Given the description of an element on the screen output the (x, y) to click on. 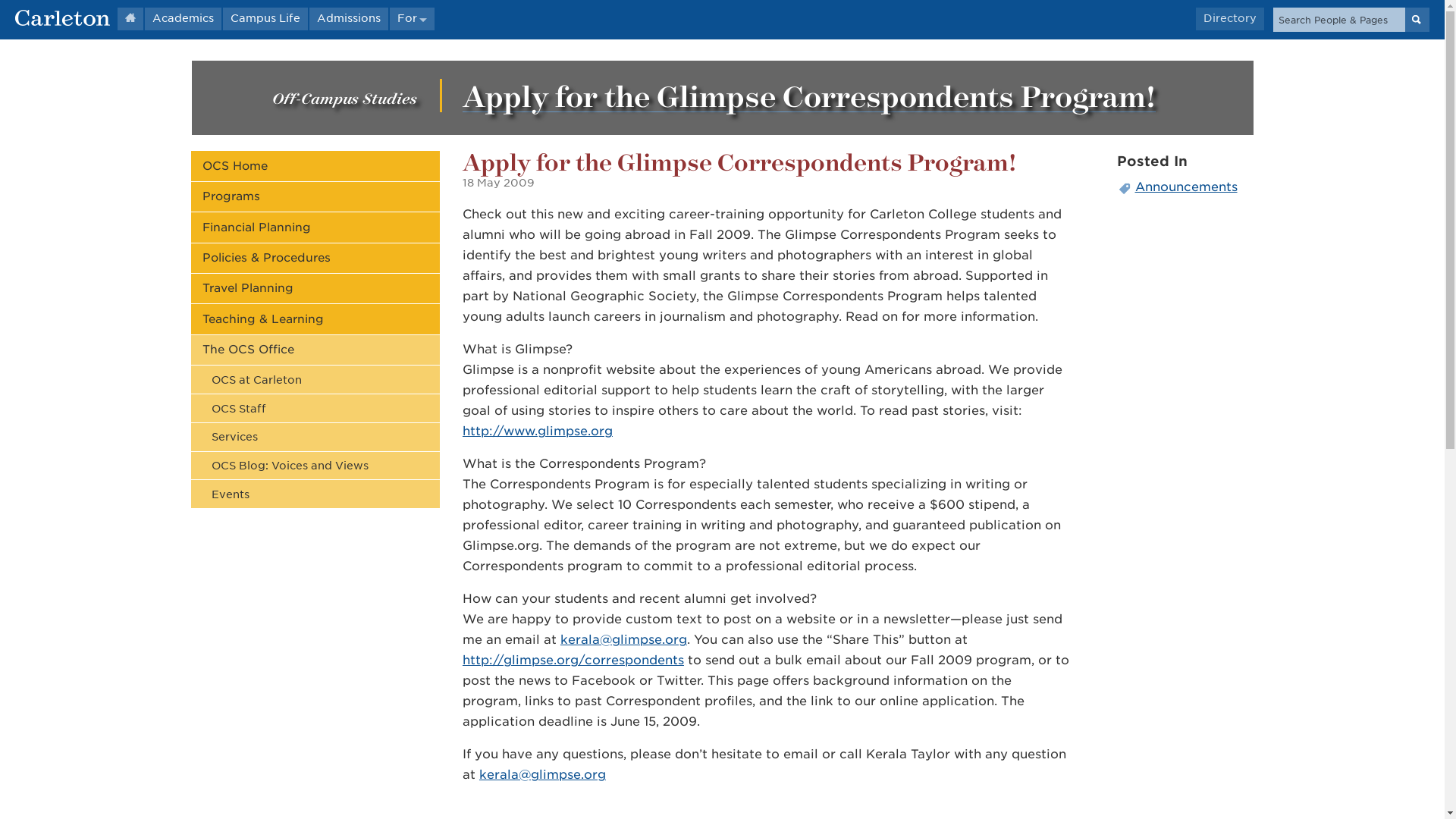
Directory (1229, 18)
Announcements (1184, 186)
OCS Home (314, 165)
Travel Planning (314, 288)
Apply for the Glimpse Correspondents Program! (809, 95)
OCS Staff (314, 407)
Academics (182, 18)
Off-Campus Studies (344, 97)
OCS at Carleton (314, 379)
Admissions (348, 18)
